Given the description of an element on the screen output the (x, y) to click on. 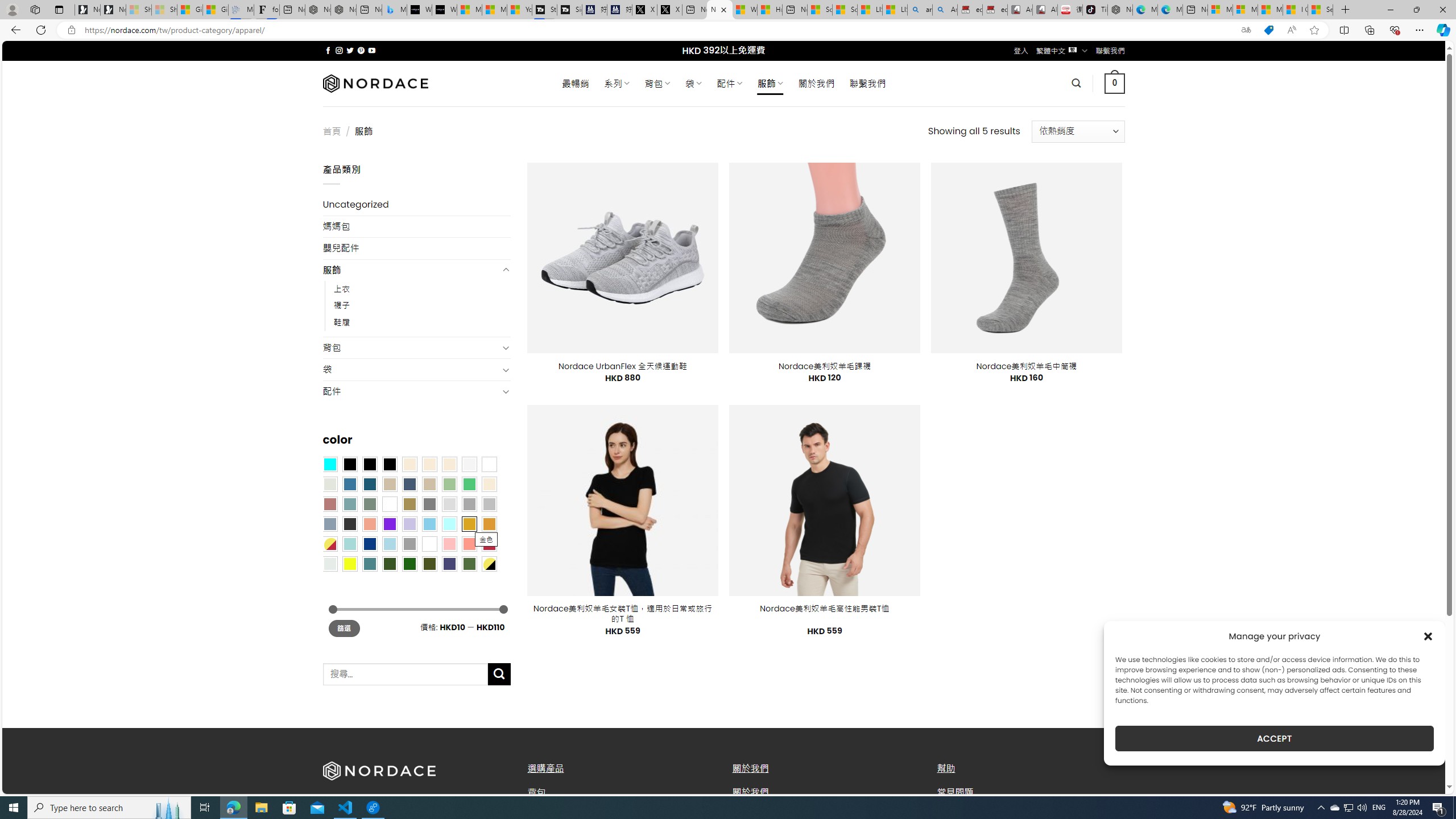
Microsoft account | Privacy (1244, 9)
